Given the description of an element on the screen output the (x, y) to click on. 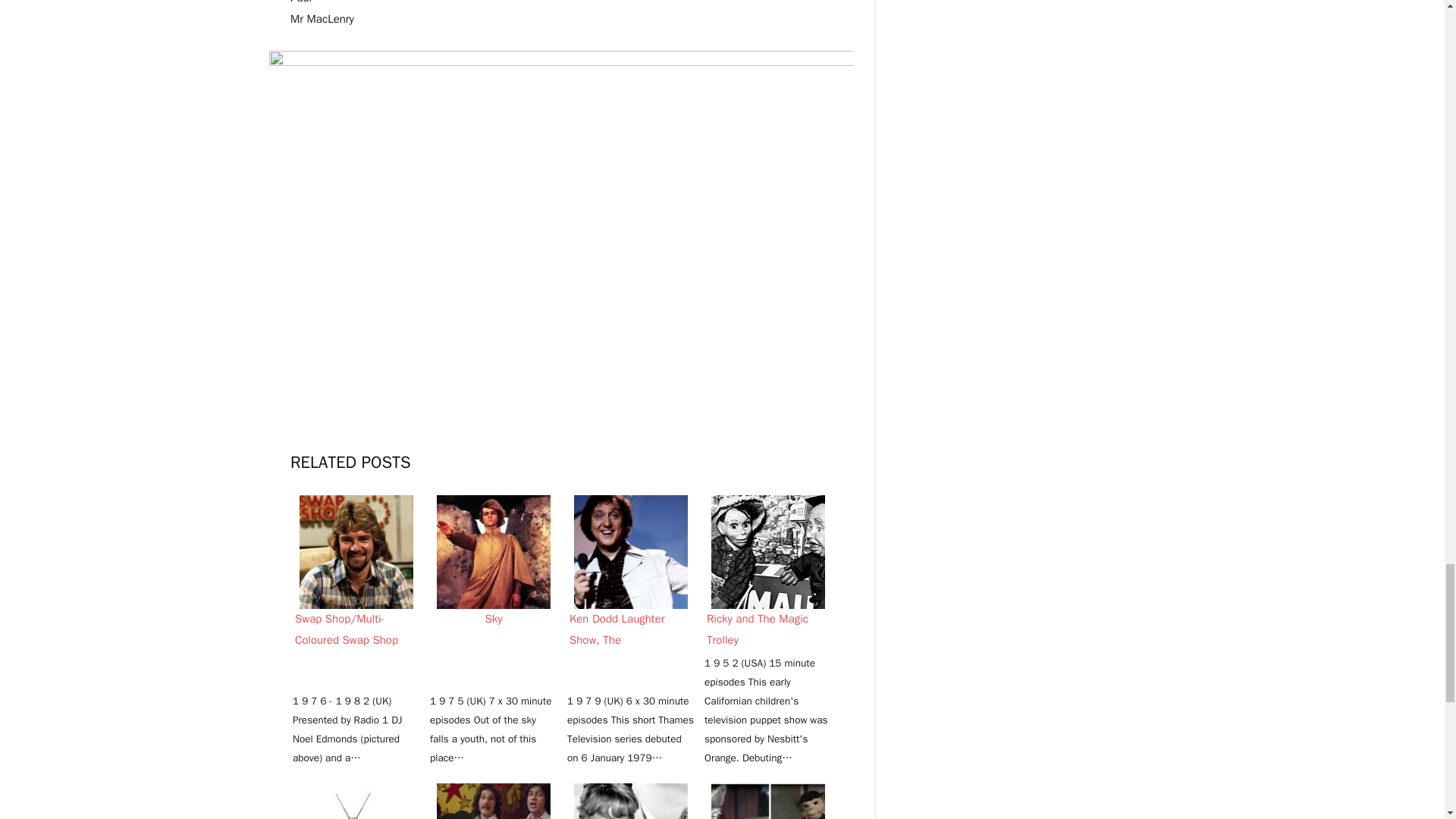
Sky (493, 552)
It's Fun to Know (356, 800)
Ken Dodd Laughter Show, The (630, 552)
Ricky and The Magic Trolley (768, 552)
